Given the description of an element on the screen output the (x, y) to click on. 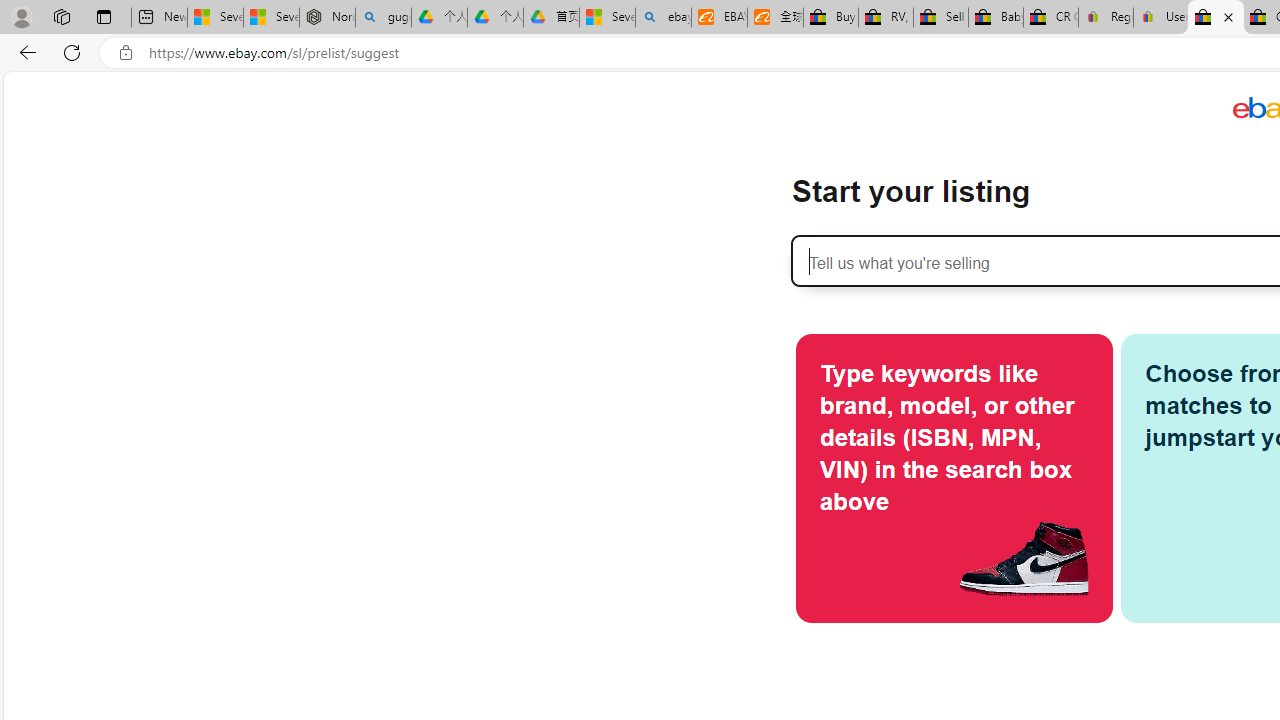
Register: Create a personal eBay account (1105, 17)
RV, Trailer & Camper Steps & Ladders for sale | eBay (885, 17)
